Given the description of an element on the screen output the (x, y) to click on. 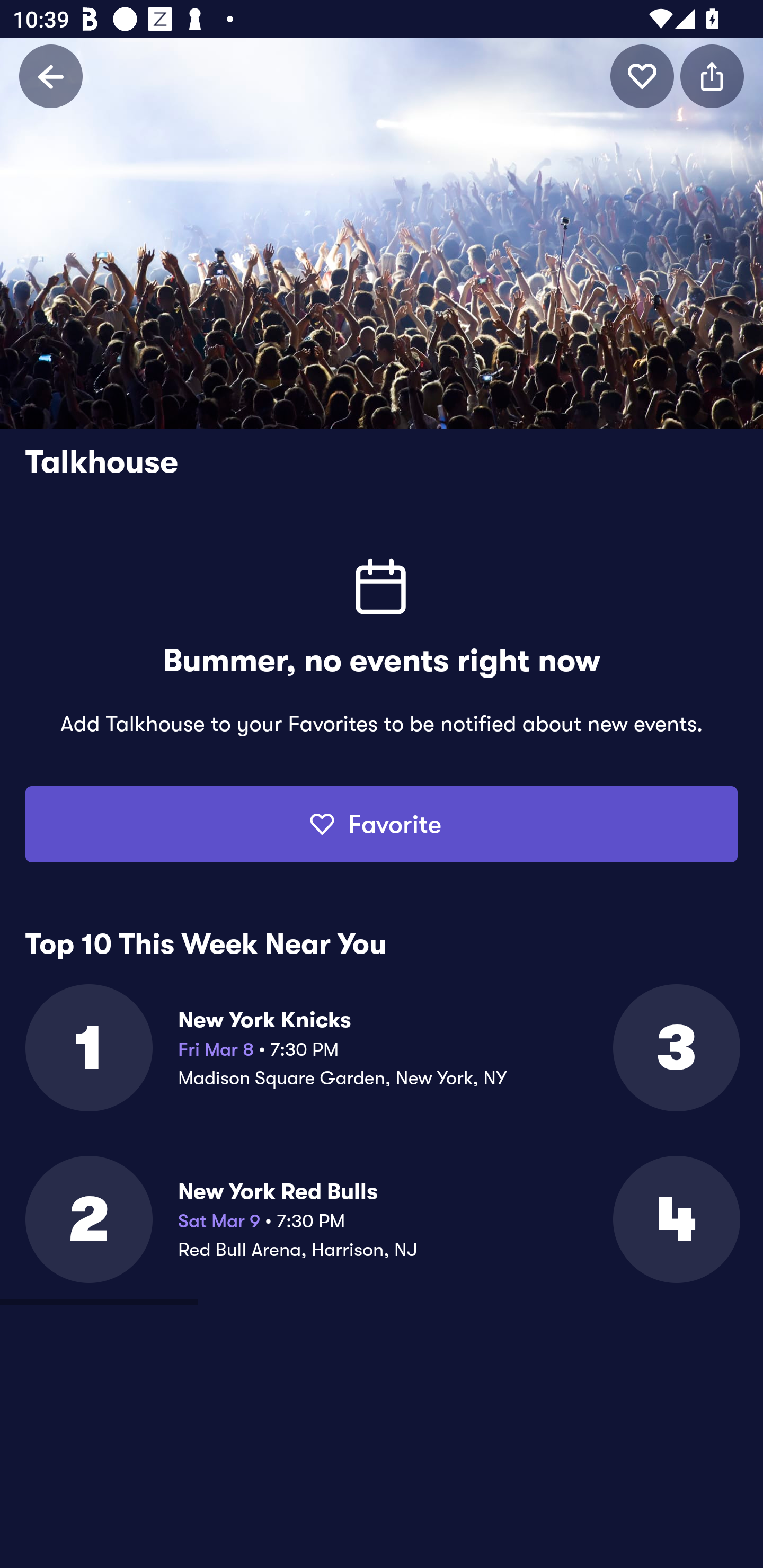
Back (50, 75)
icon button (641, 75)
icon button (711, 75)
Favorite (381, 823)
3 (675, 1047)
4 (675, 1218)
